Given the description of an element on the screen output the (x, y) to click on. 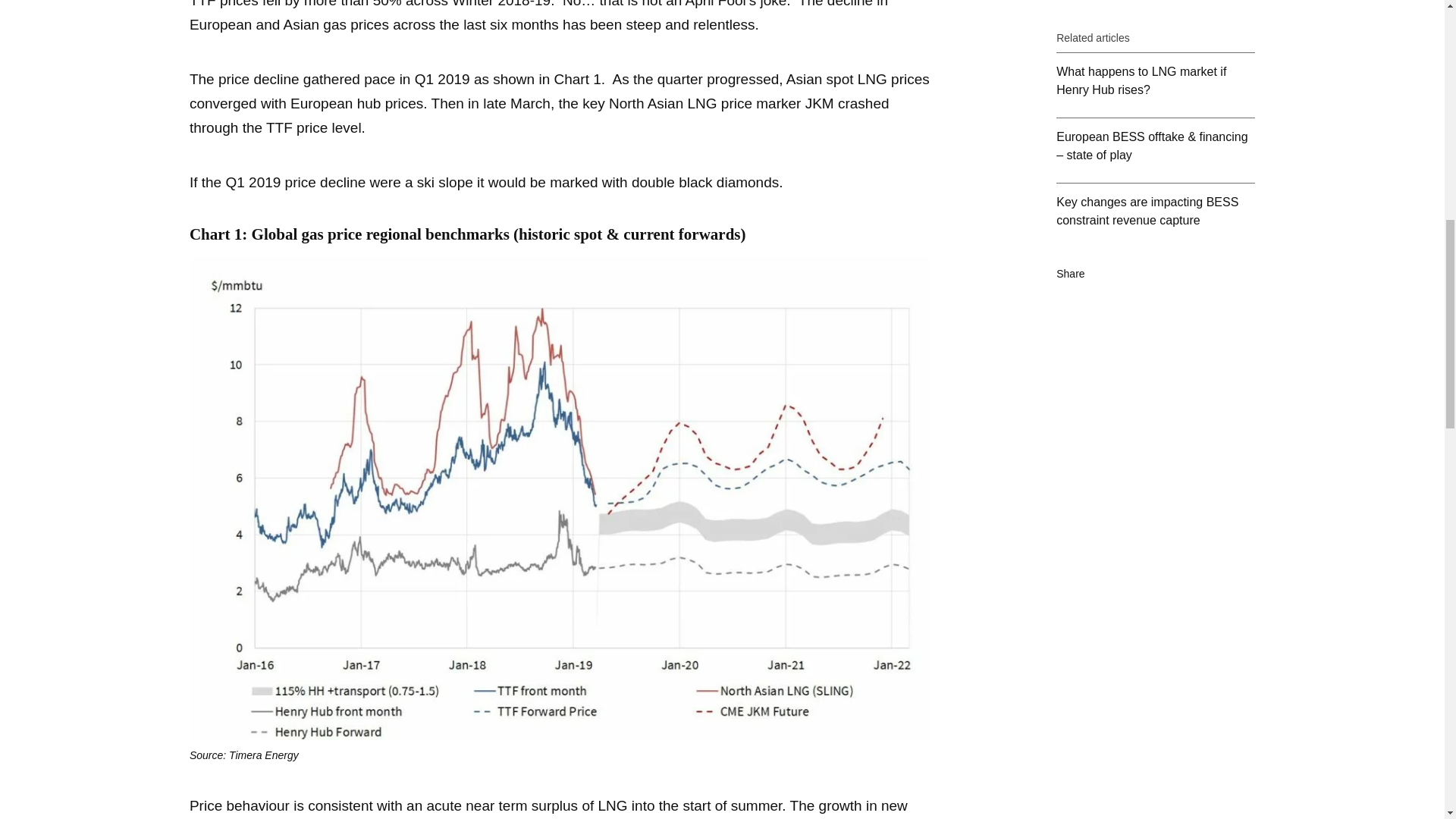
X (1146, 176)
Copy (1177, 176)
Key changes are impacting BESS constraint revenue capture (1156, 115)
What happens to LNG market if Henry Hub rises? (1156, 1)
LinkedIn (1114, 176)
